Given the description of an element on the screen output the (x, y) to click on. 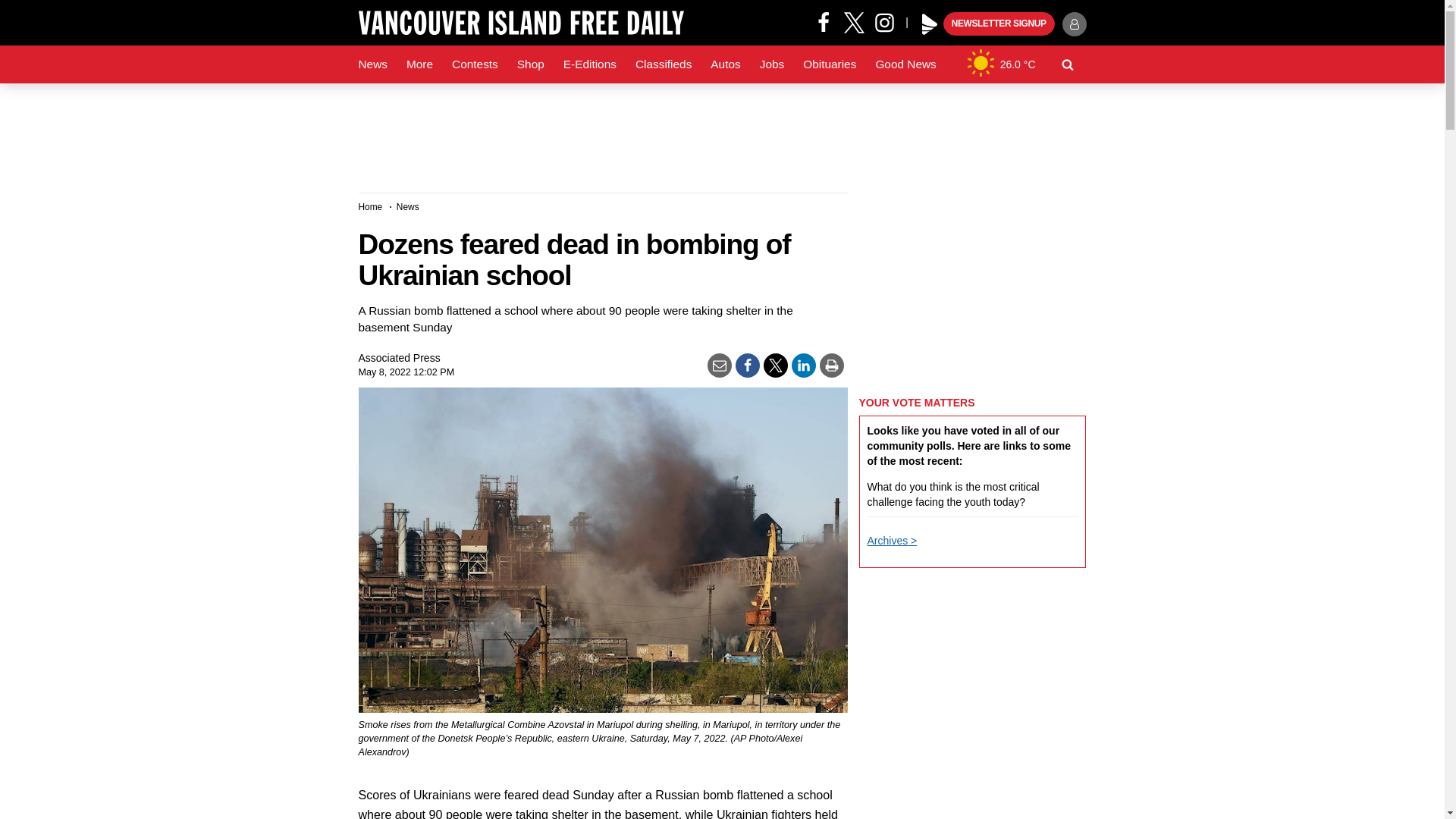
Facebook (823, 21)
Play (929, 24)
Instagram (889, 21)
NEWSLETTER SIGNUP (998, 24)
News (372, 64)
Black Press Media (929, 24)
X (853, 21)
